Given the description of an element on the screen output the (x, y) to click on. 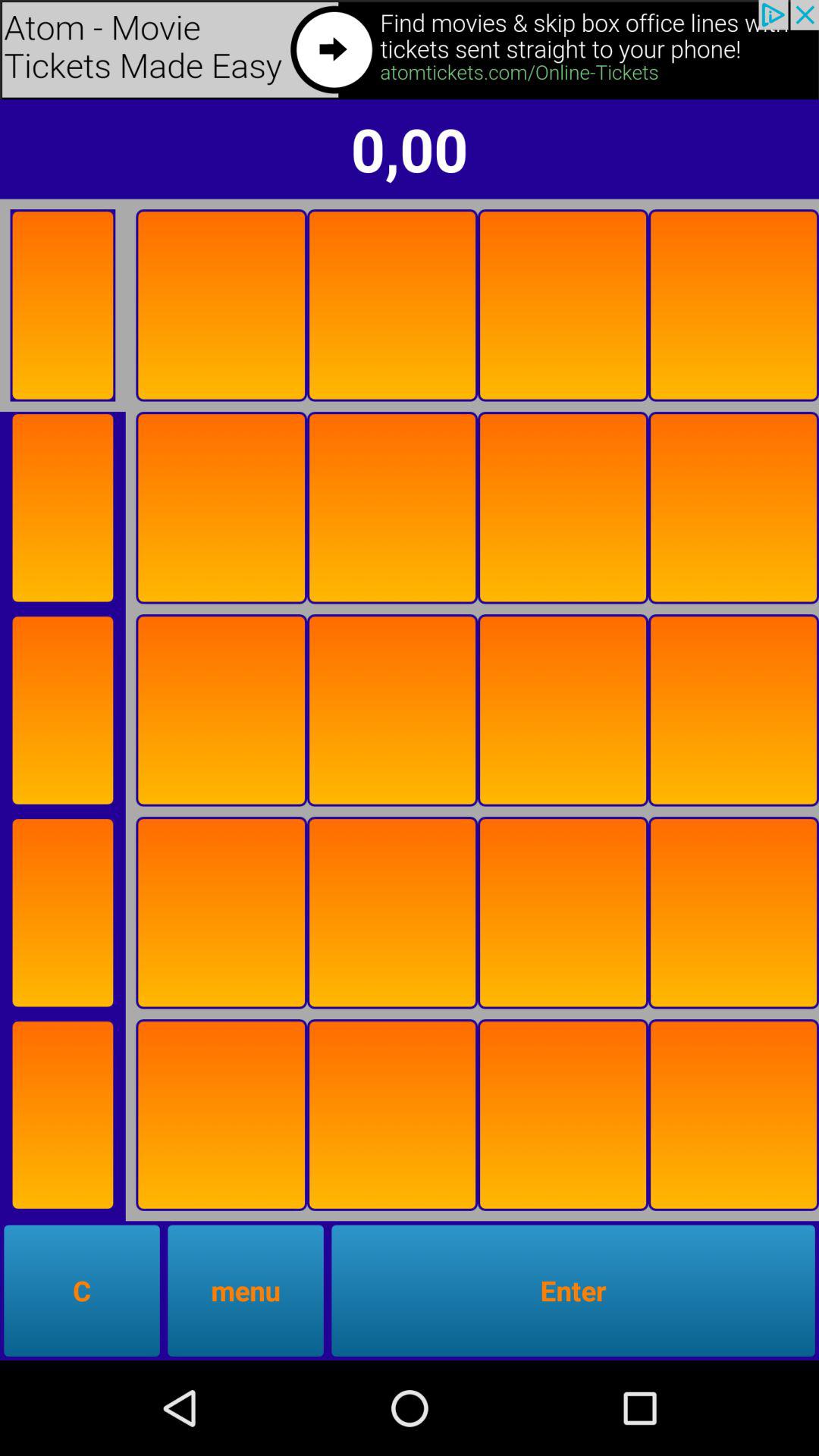
choose a column (733, 1114)
